Given the description of an element on the screen output the (x, y) to click on. 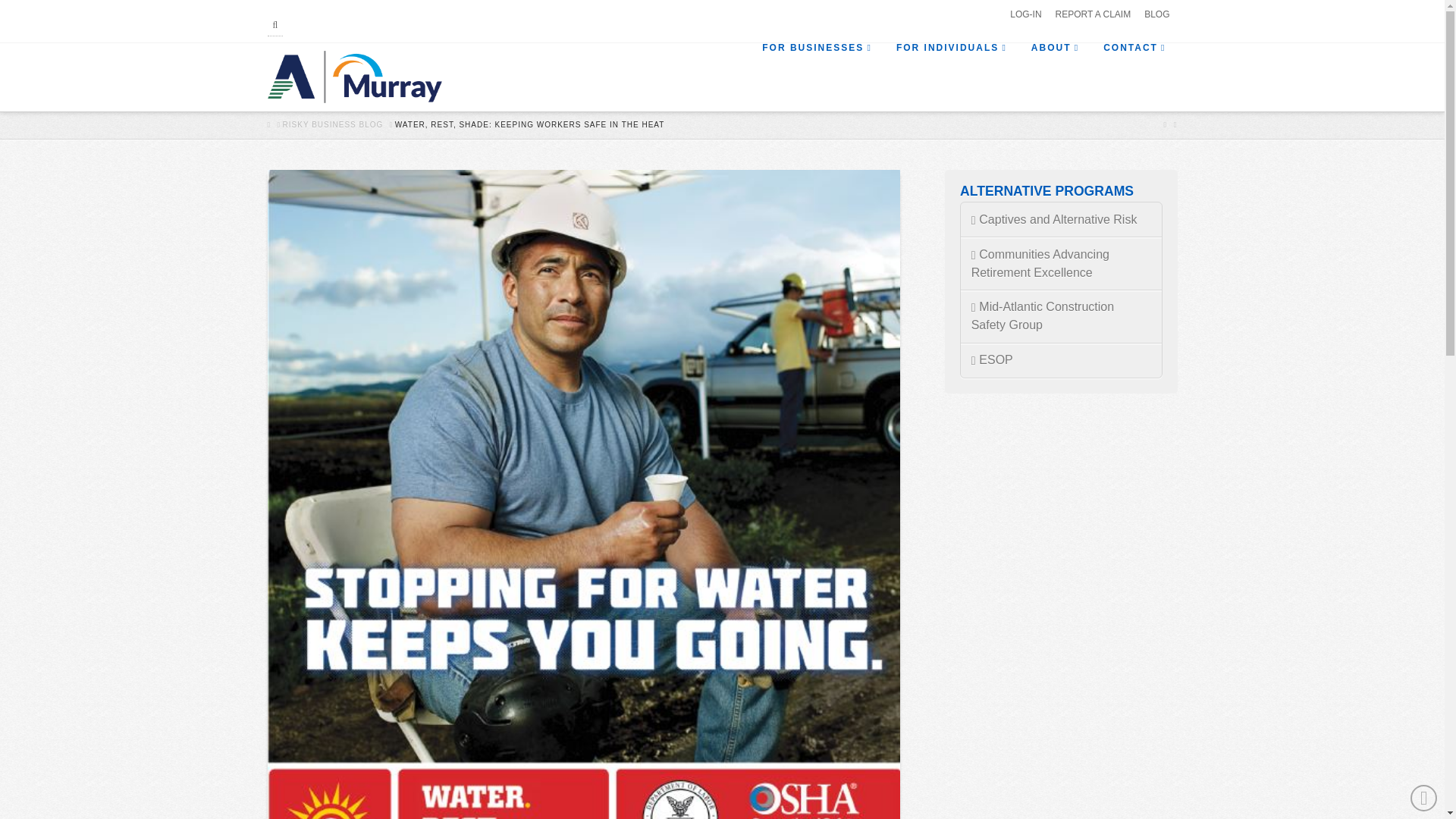
ABOUT (1053, 77)
Back to Top (1423, 797)
CONTACT (1133, 77)
You Are Here (529, 124)
FOR BUSINESSES (816, 77)
FOR INDIVIDUALS (950, 77)
LOG-IN (1025, 13)
BLOG (1156, 13)
REPORT A CLAIM (1093, 13)
